Given the description of an element on the screen output the (x, y) to click on. 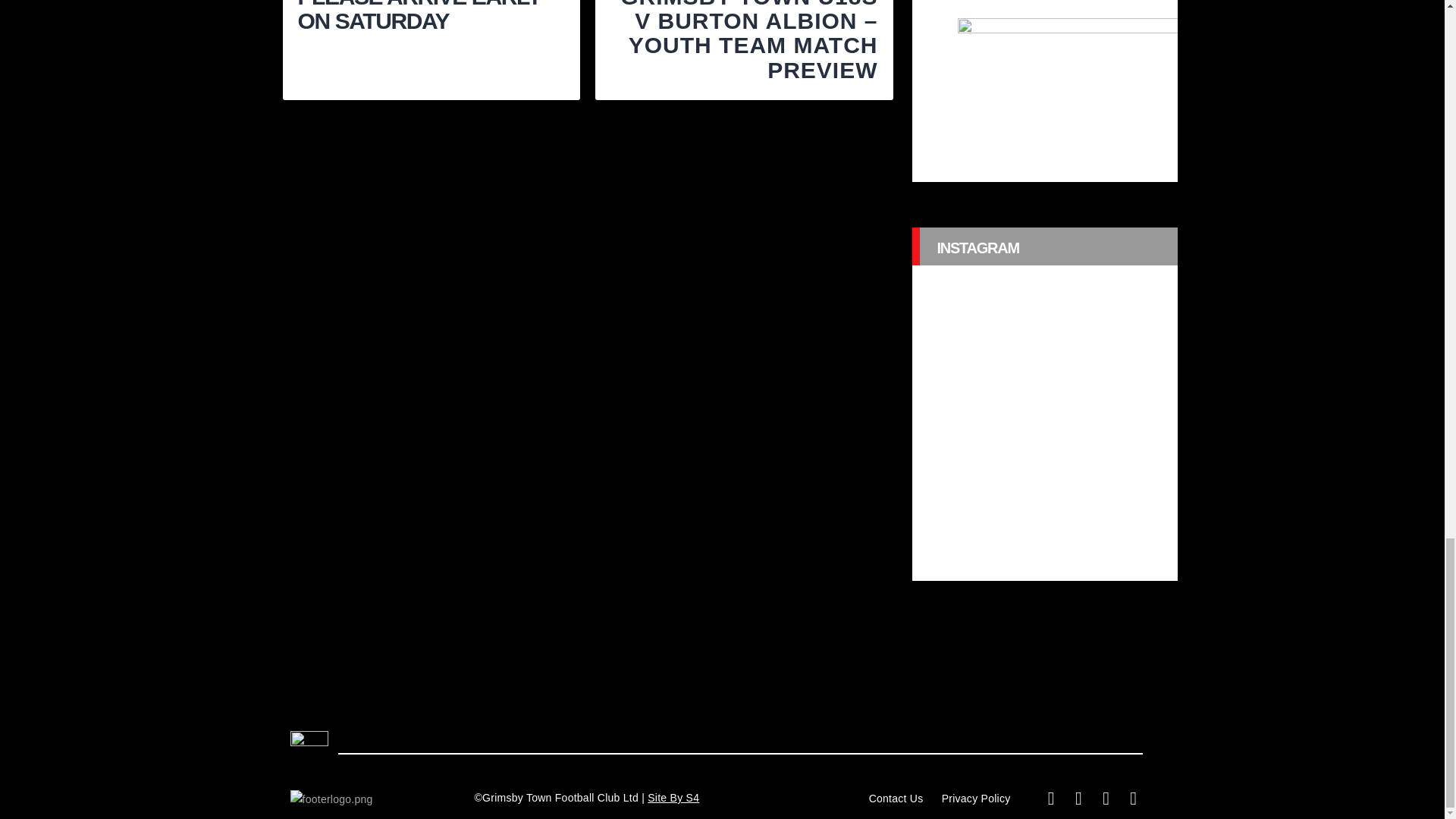
footerlogo.png (330, 799)
